Given the description of an element on the screen output the (x, y) to click on. 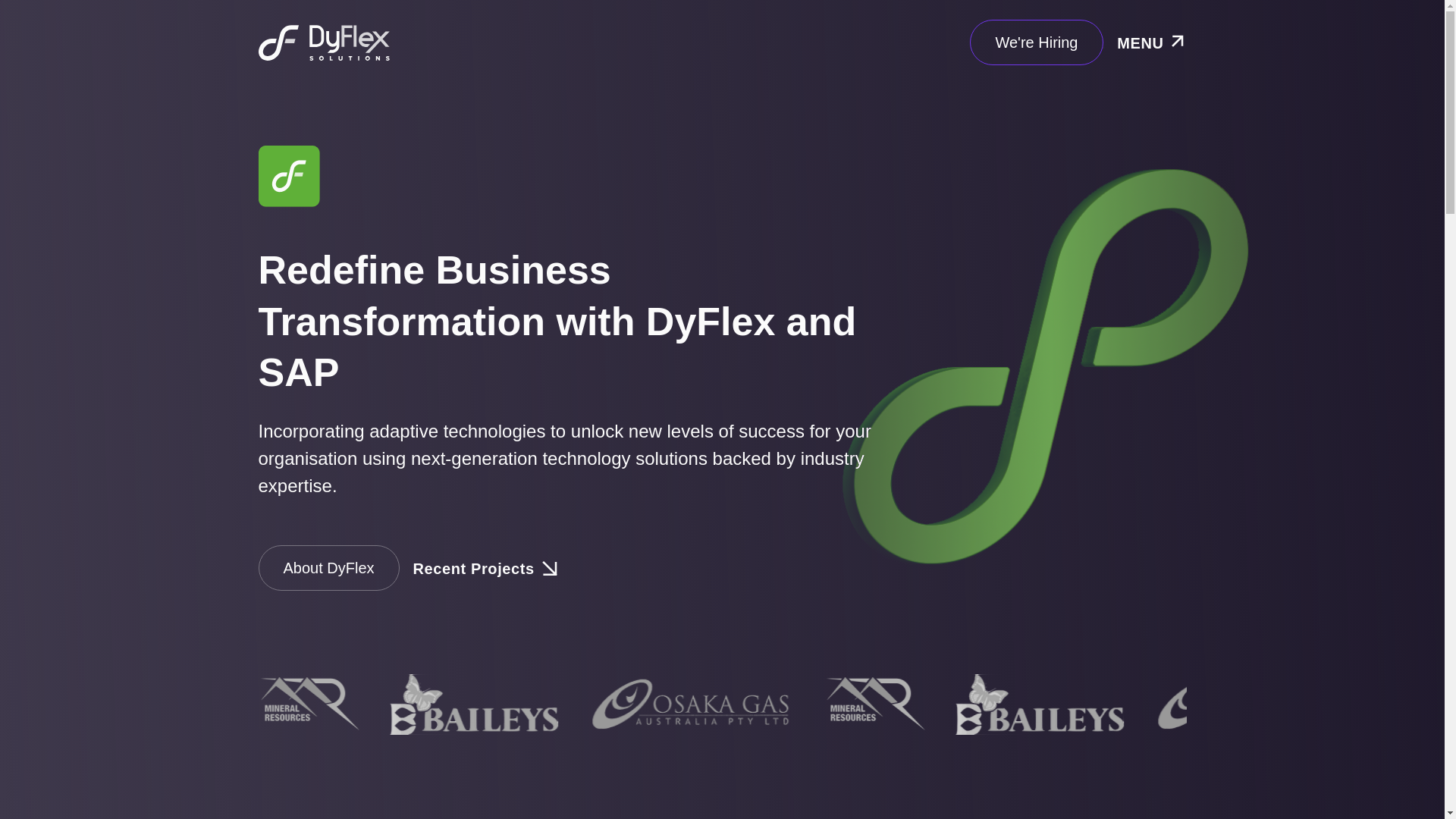
About DyFlex Element type: text (327, 567)
We're Hiring Element type: text (1035, 42)
Recent Projects Element type: text (485, 567)
MENU
CLOSE Element type: text (1144, 42)
